Given the description of an element on the screen output the (x, y) to click on. 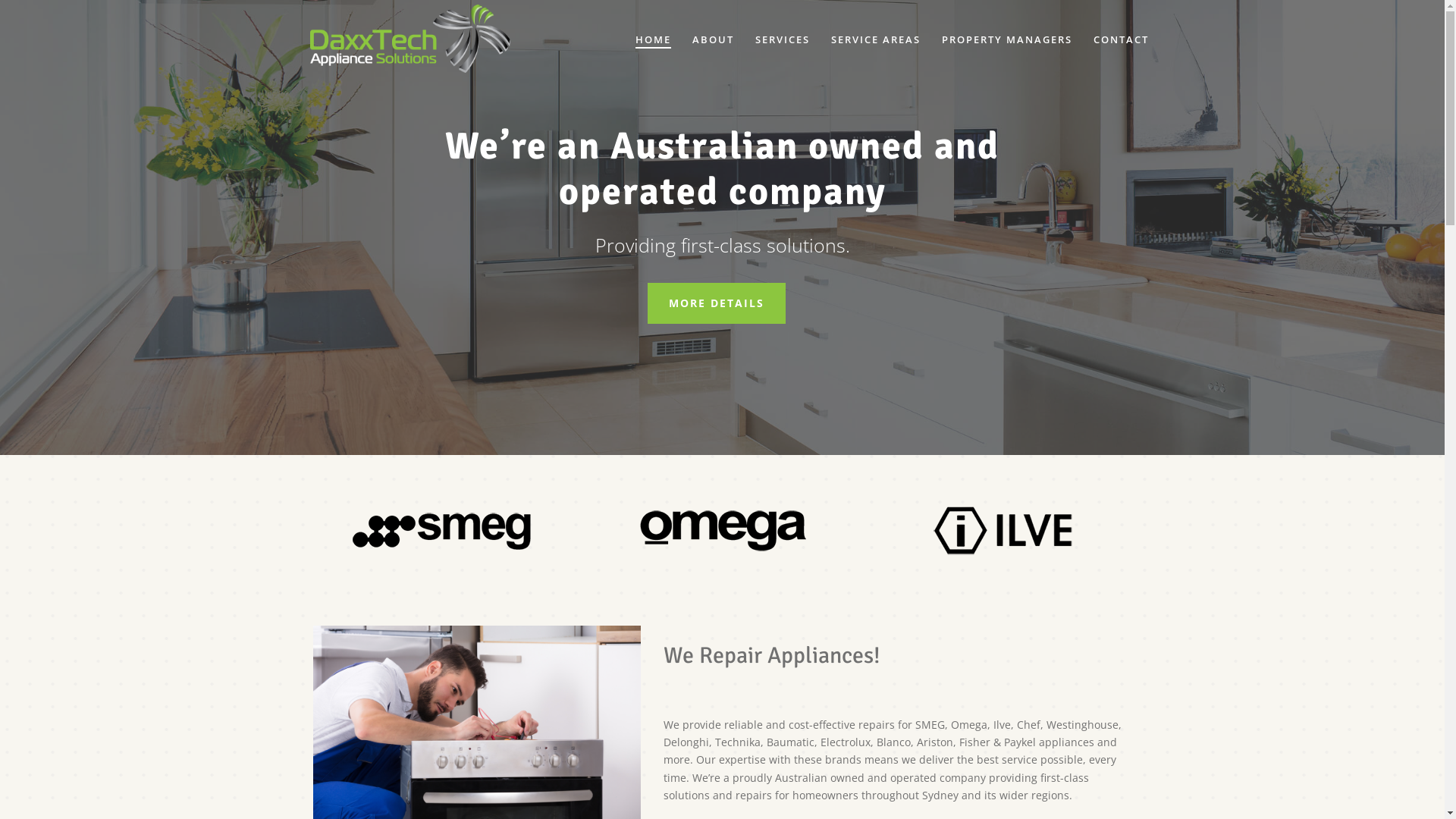
SERVICE AREAS Element type: text (875, 39)
SERVICES Element type: text (782, 39)
CONTACT Element type: text (1120, 39)
PROPERTY MANAGERS Element type: text (1006, 39)
HOME Element type: text (652, 39)
ABOUT Element type: text (711, 39)
MORE DETAILS Element type: text (716, 302)
Service & Repair Sydney Element type: hover (409, 38)
